Given the description of an element on the screen output the (x, y) to click on. 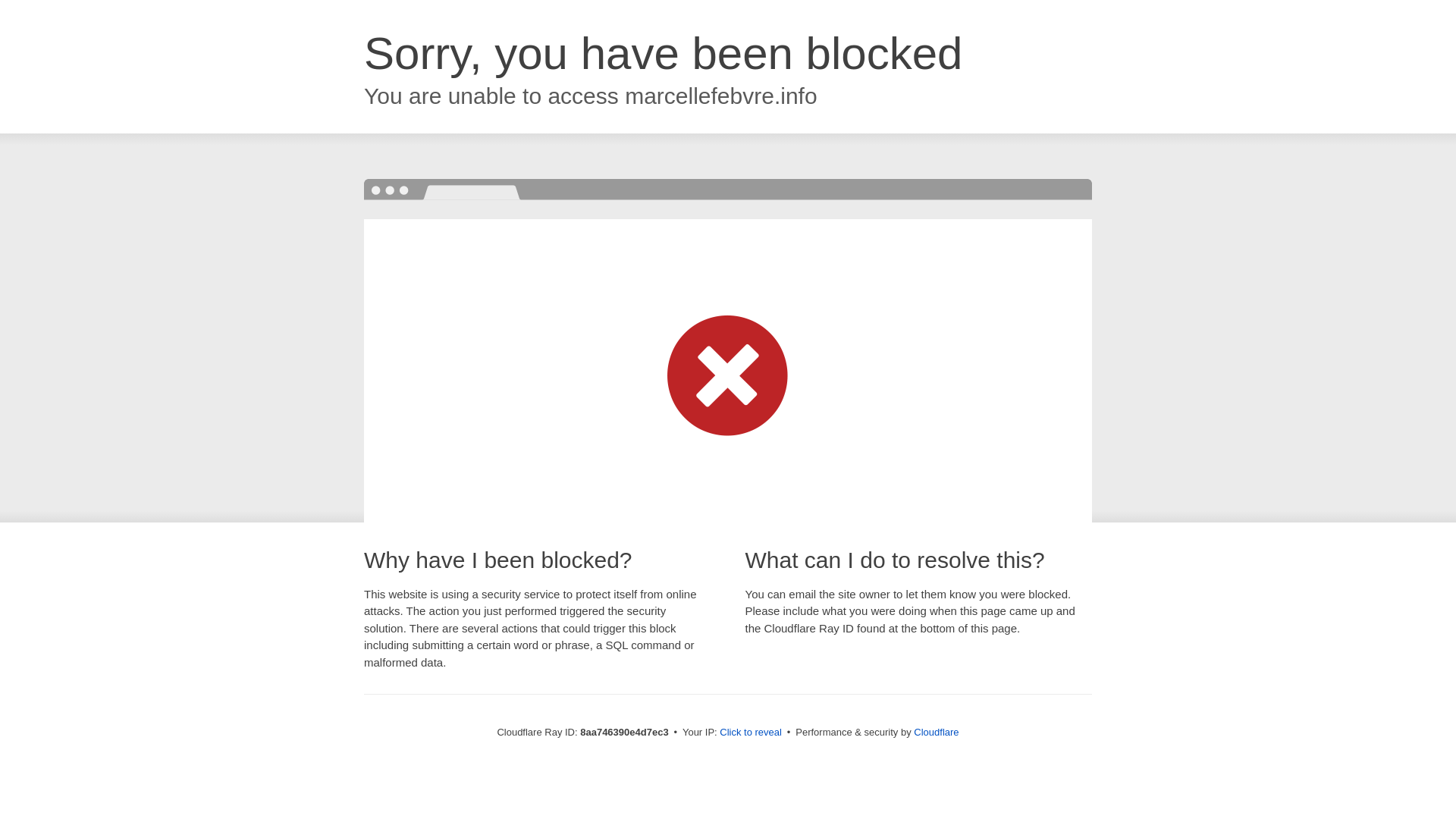
Cloudflare (936, 731)
Click to reveal (750, 732)
